Given the description of an element on the screen output the (x, y) to click on. 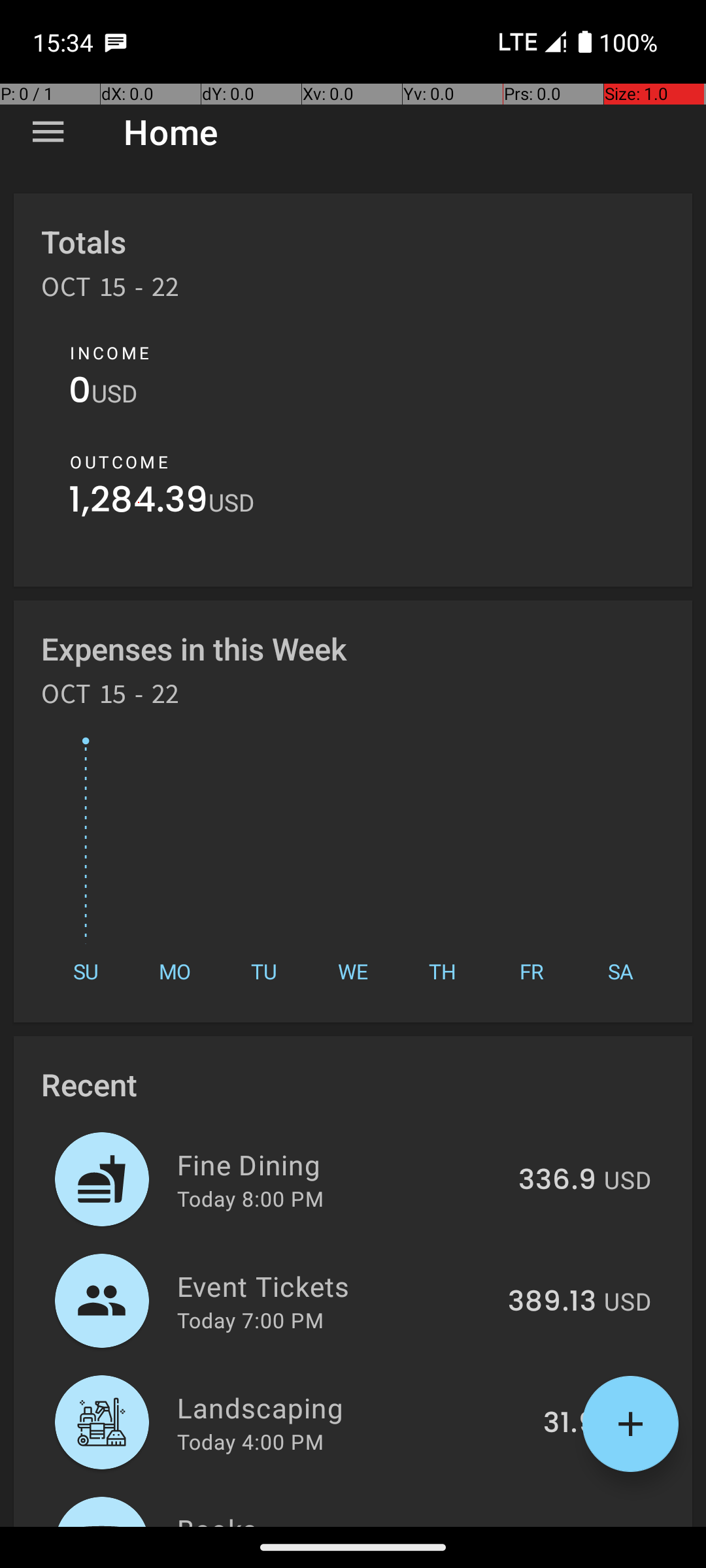
1,284.39 Element type: android.widget.TextView (138, 502)
Fine Dining Element type: android.widget.TextView (340, 1164)
Today 8:00 PM Element type: android.widget.TextView (250, 1198)
336.9 Element type: android.widget.TextView (556, 1180)
Event Tickets Element type: android.widget.TextView (334, 1285)
389.13 Element type: android.widget.TextView (551, 1301)
Landscaping Element type: android.widget.TextView (352, 1407)
Today 4:00 PM Element type: android.widget.TextView (250, 1441)
31.9 Element type: android.widget.TextView (569, 1423)
Books Element type: android.widget.TextView (338, 1518)
147.15 Element type: android.widget.TextView (555, 1524)
